Given the description of an element on the screen output the (x, y) to click on. 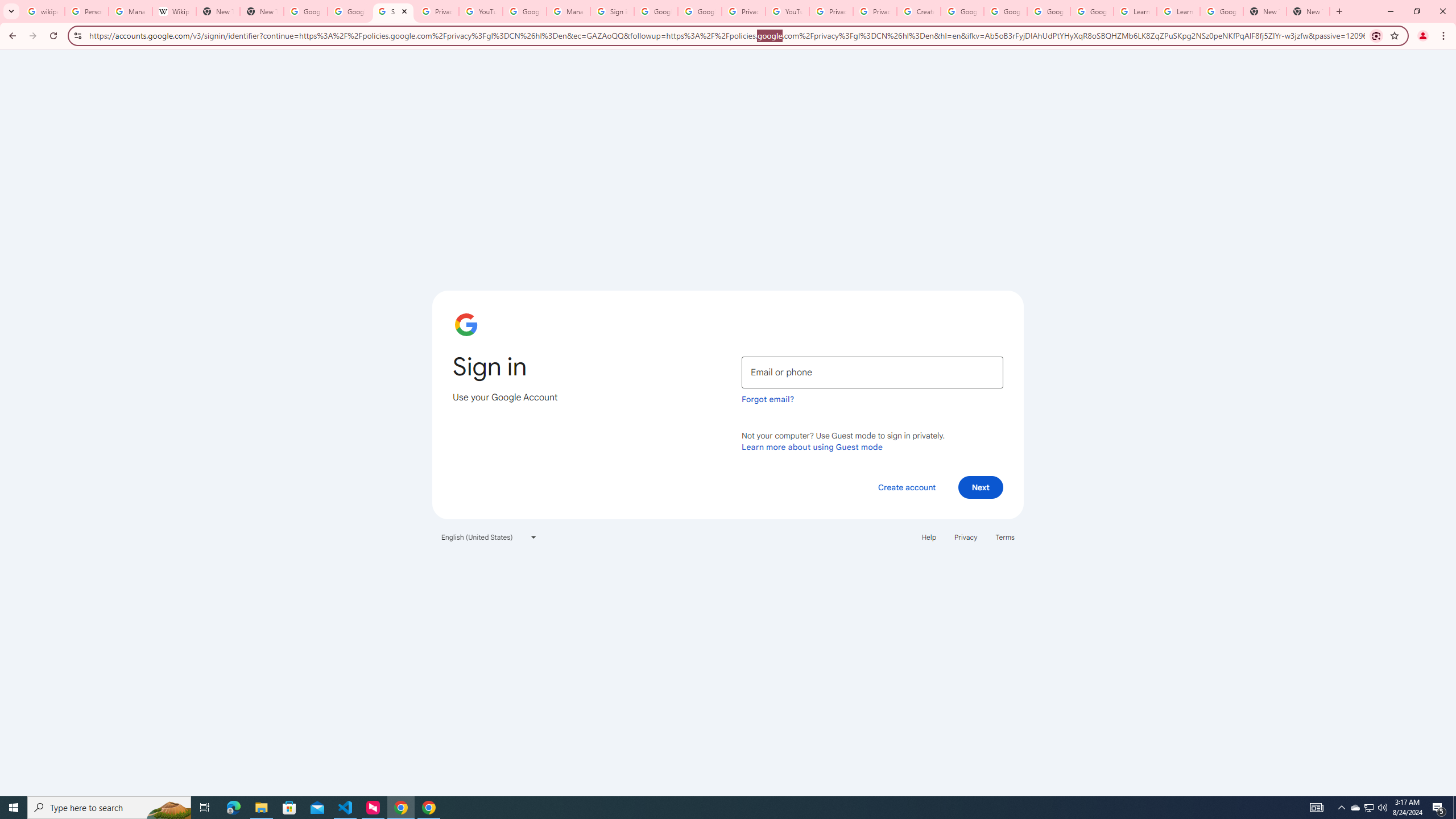
Google Account Help (1091, 11)
Google Drive: Sign-in (349, 11)
Google Account Help (962, 11)
Manage your Location History - Google Search Help (130, 11)
